Given the description of an element on the screen output the (x, y) to click on. 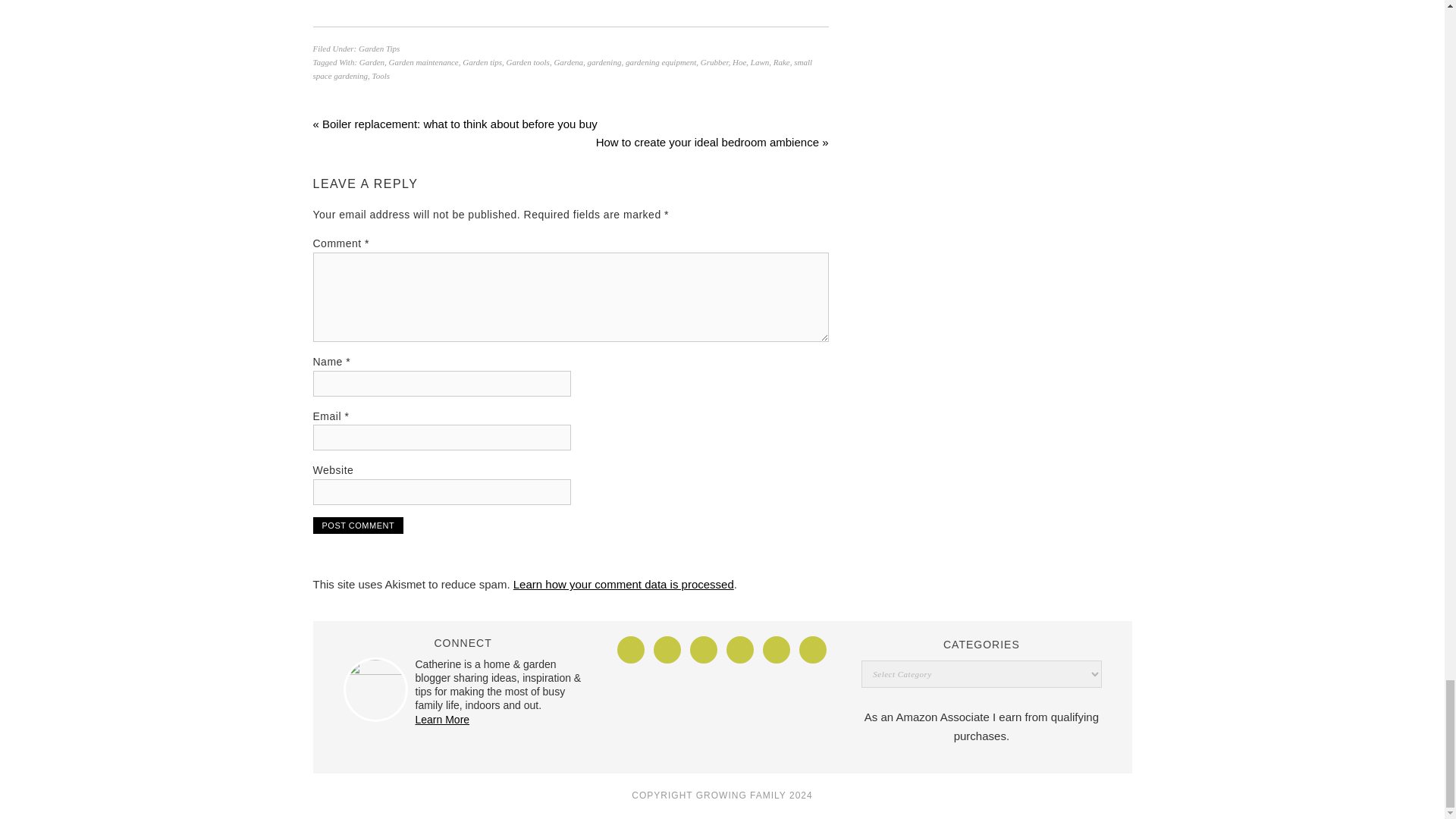
Post Comment (358, 524)
